Given the description of an element on the screen output the (x, y) to click on. 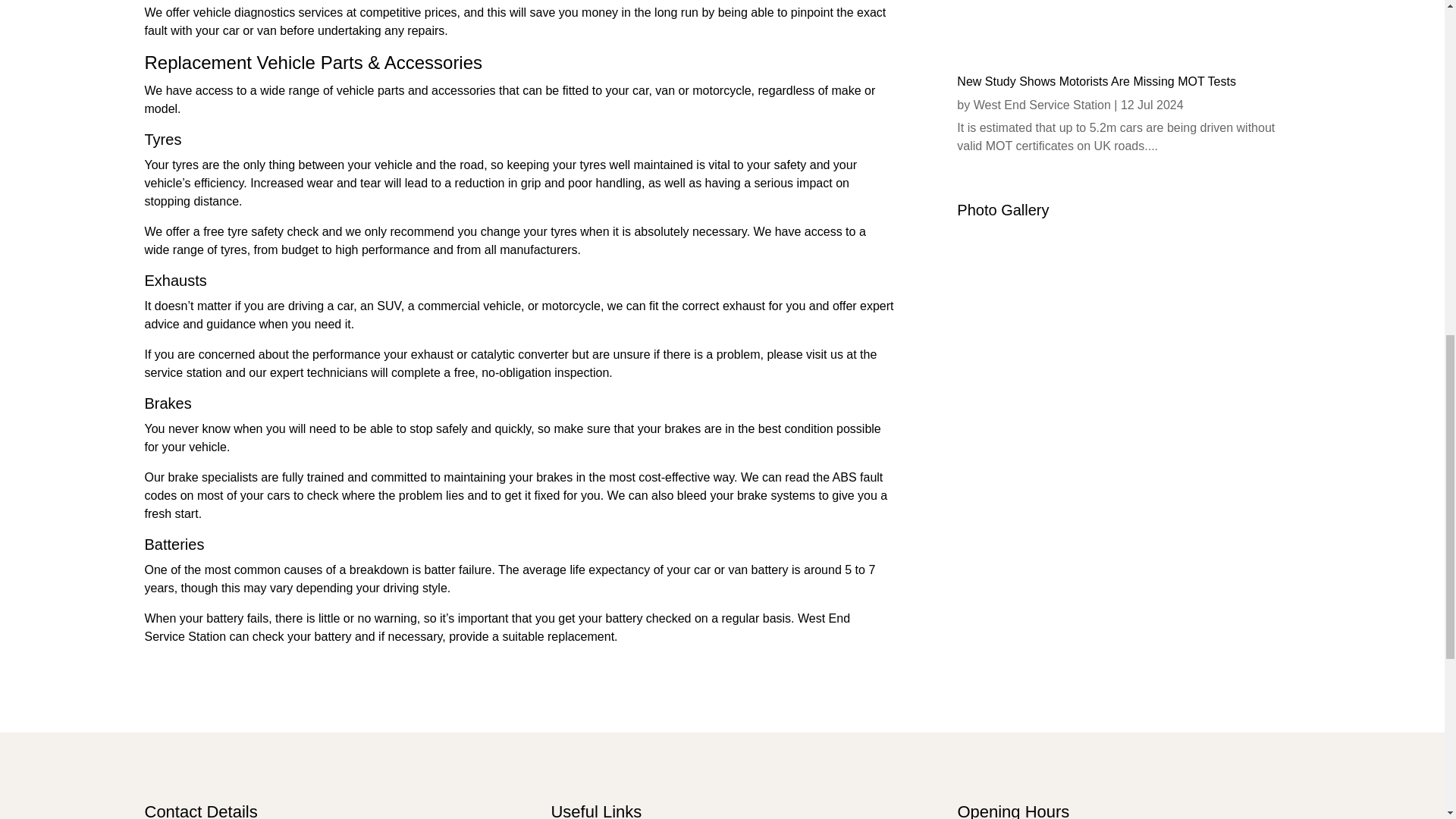
West End Service Station (1042, 104)
Posts by West End Service Station (1042, 104)
West End Service Station - Exterior 1 (1128, 597)
New Study Shows Motorists Are Missing MOT Tests (1096, 81)
